Given the description of an element on the screen output the (x, y) to click on. 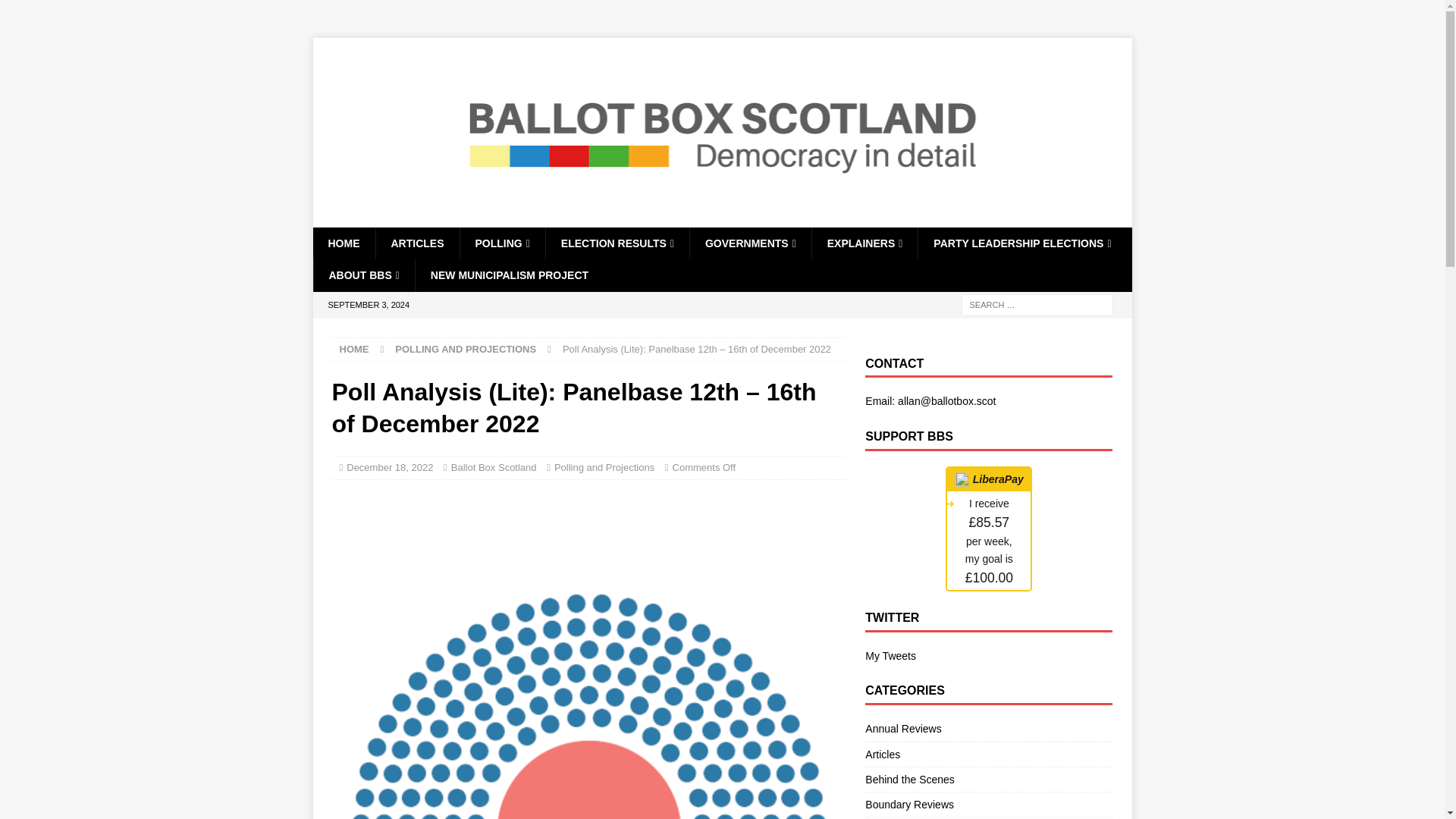
POLLING (502, 243)
ARTICLES (416, 243)
ELECTION RESULTS (616, 243)
HOME (343, 243)
Ballot Box Scotland (722, 218)
